Given the description of an element on the screen output the (x, y) to click on. 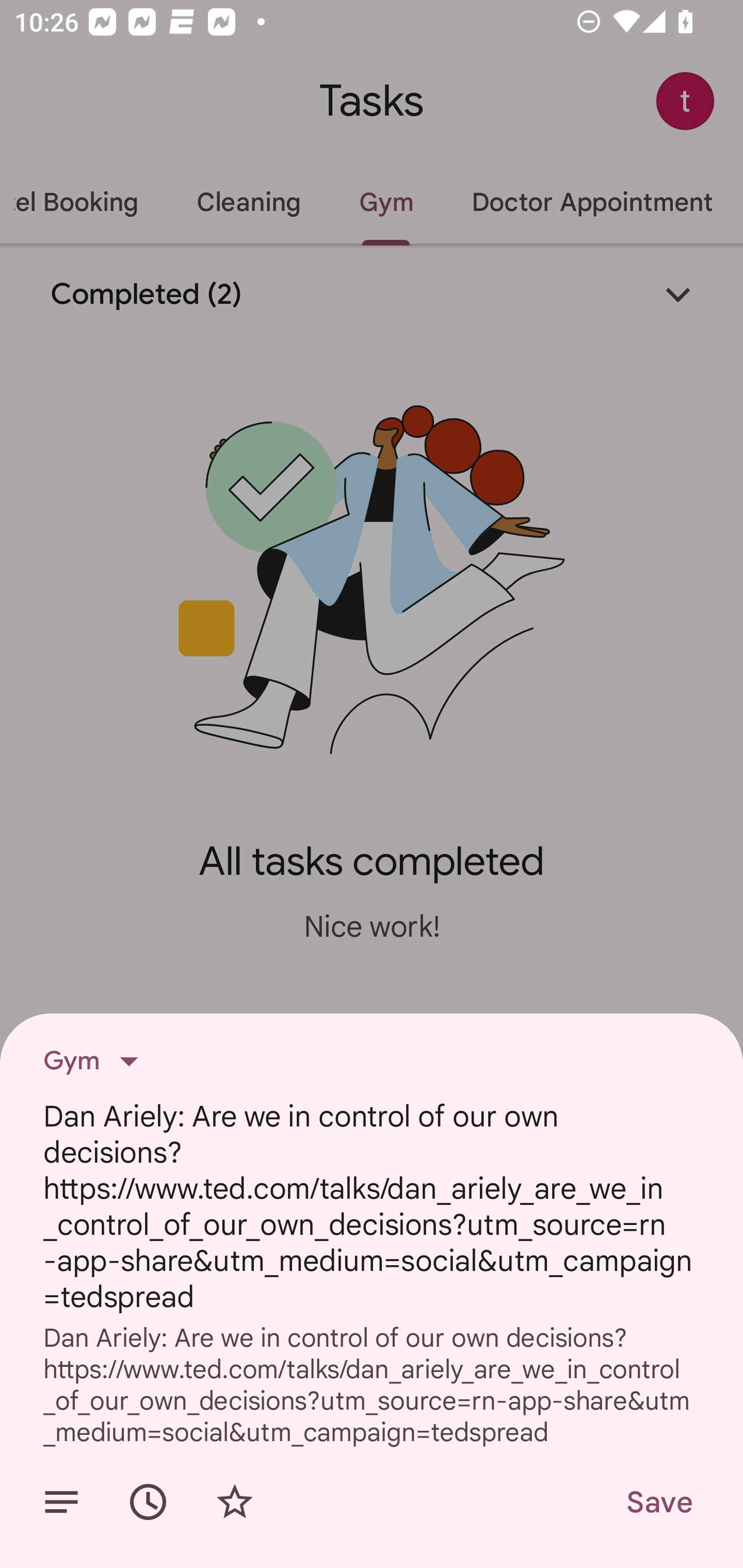
Gym List, Gym selected, 1 of 6 (96, 1061)
Save (659, 1501)
Add details (60, 1501)
Set date/time (147, 1501)
Add star (234, 1501)
